Given the description of an element on the screen output the (x, y) to click on. 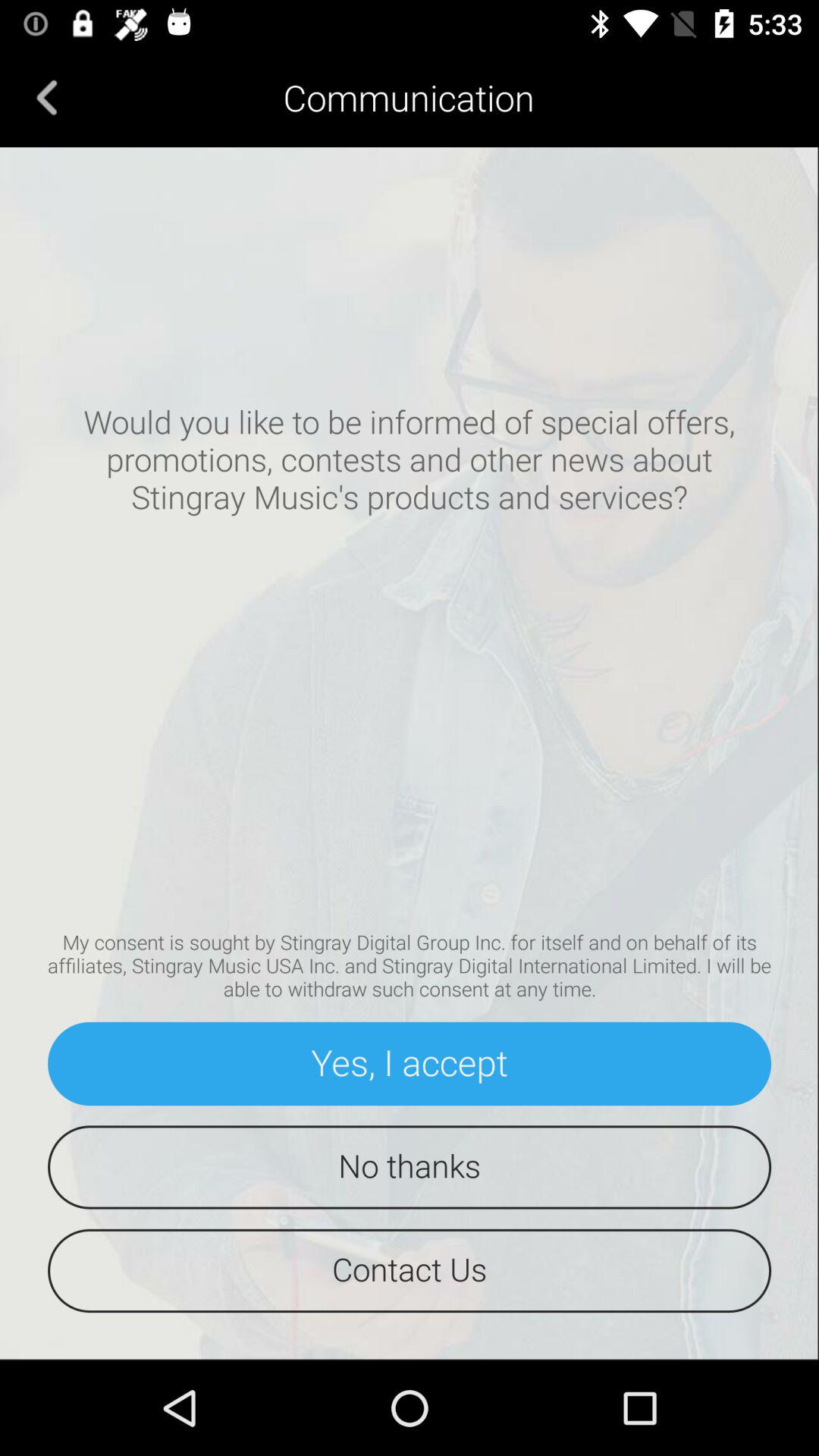
click item to the left of the communication item (47, 97)
